Given the description of an element on the screen output the (x, y) to click on. 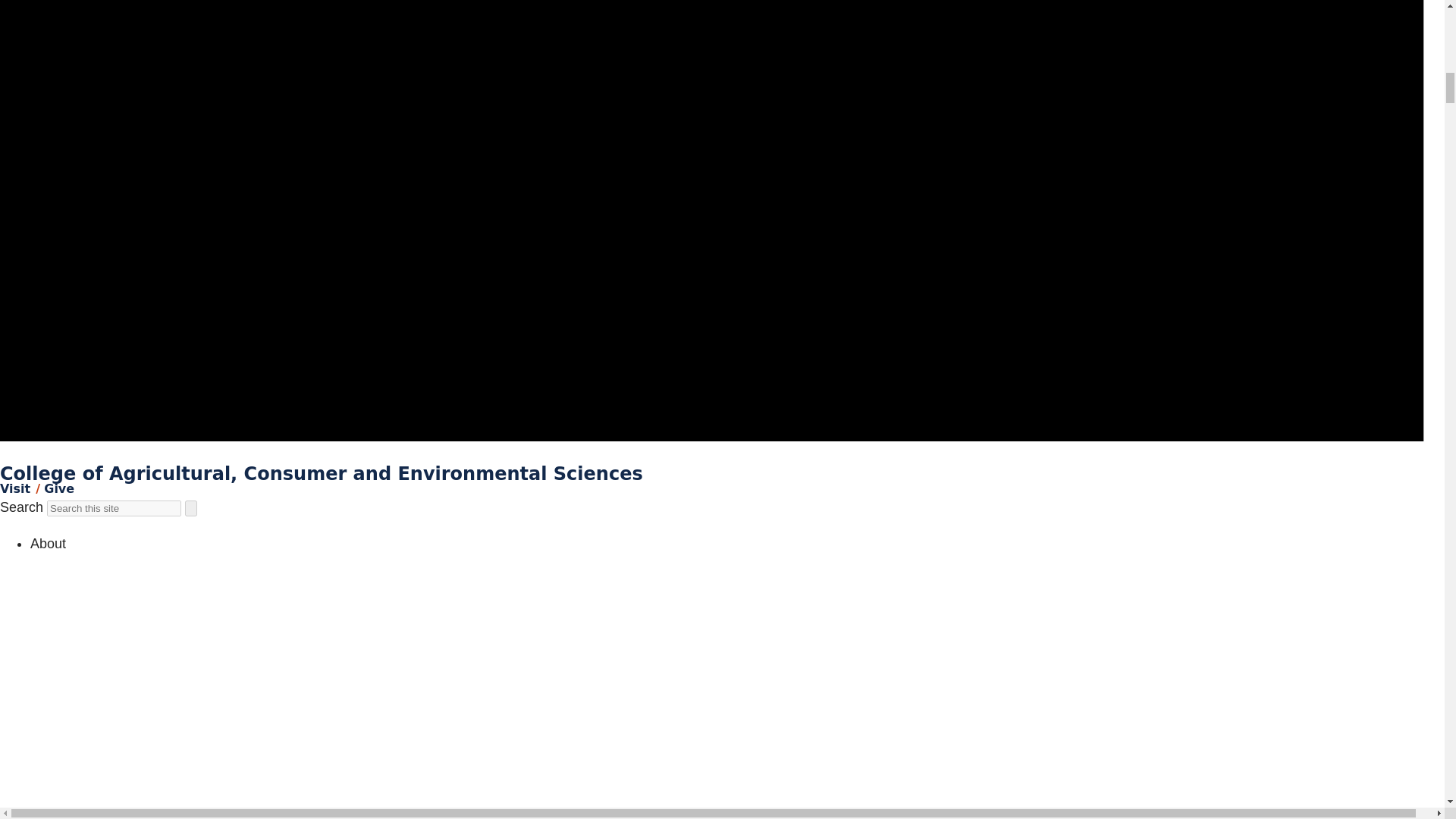
About (47, 543)
College of Agricultural, Consumer and Environmental Sciences (321, 473)
Visit (15, 488)
Give (58, 488)
